Given the description of an element on the screen output the (x, y) to click on. 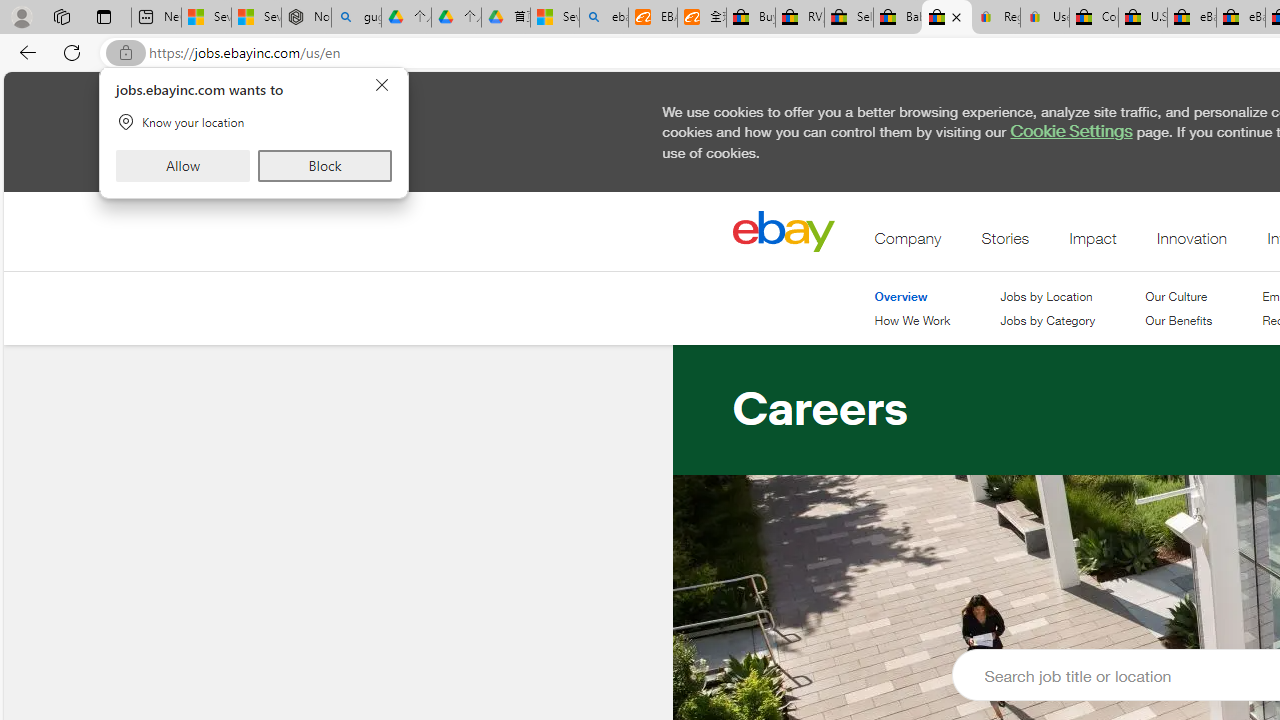
Buy Auto Parts & Accessories | eBay (750, 17)
User Privacy Notice | eBay (1044, 17)
Stories (1005, 243)
Jobs by Location (1046, 296)
Company (908, 243)
eBay Jobs: Careers at eBay (946, 17)
guge yunpan - Search (356, 17)
Our Benefits (1179, 321)
ebay - Search (603, 17)
Our Culture (1176, 296)
Impact (1092, 243)
